Given the description of an element on the screen output the (x, y) to click on. 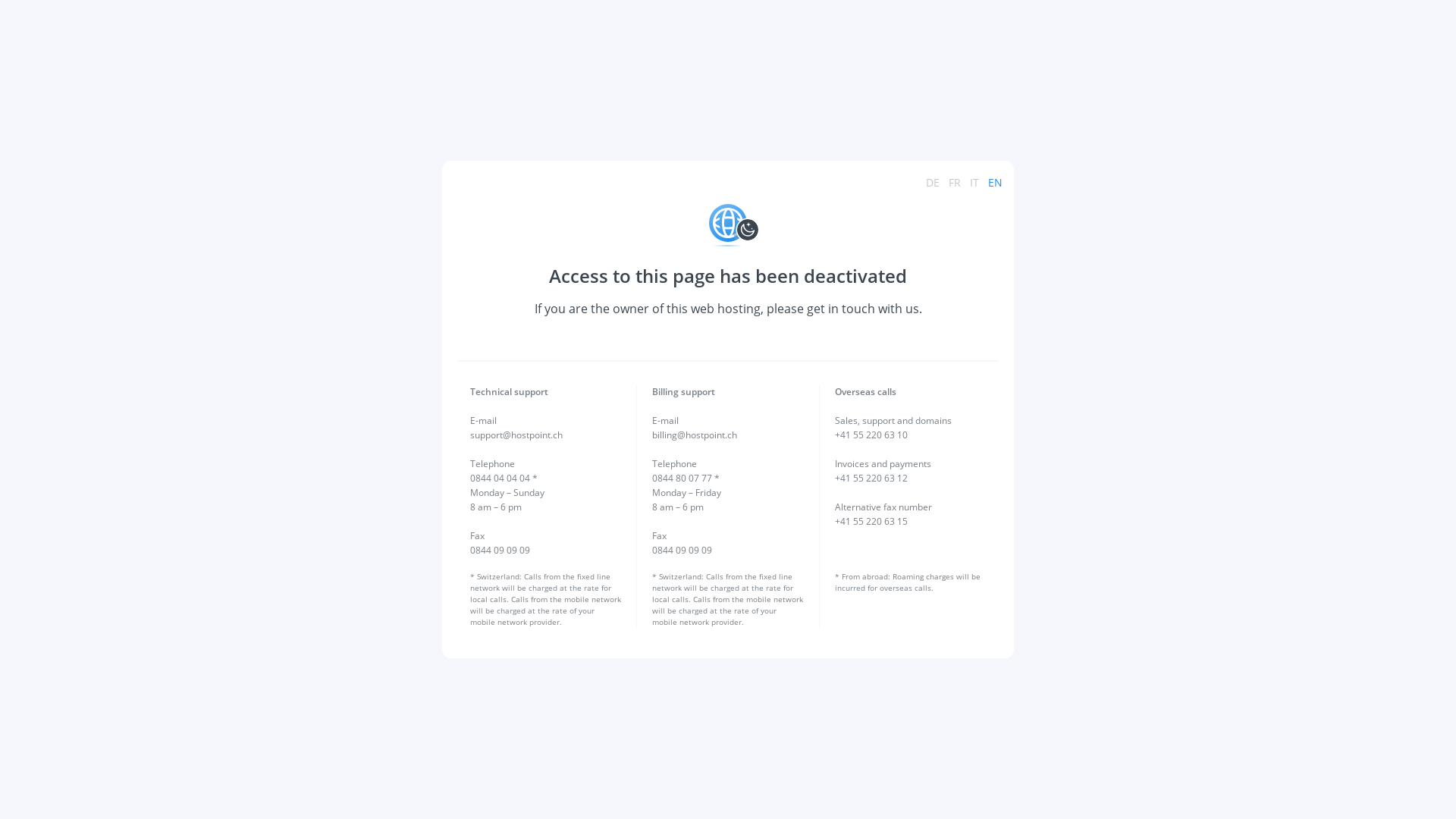
billing@hostpoint.ch Element type: text (694, 434)
support@hostpoint.ch Element type: text (516, 434)
